Given the description of an element on the screen output the (x, y) to click on. 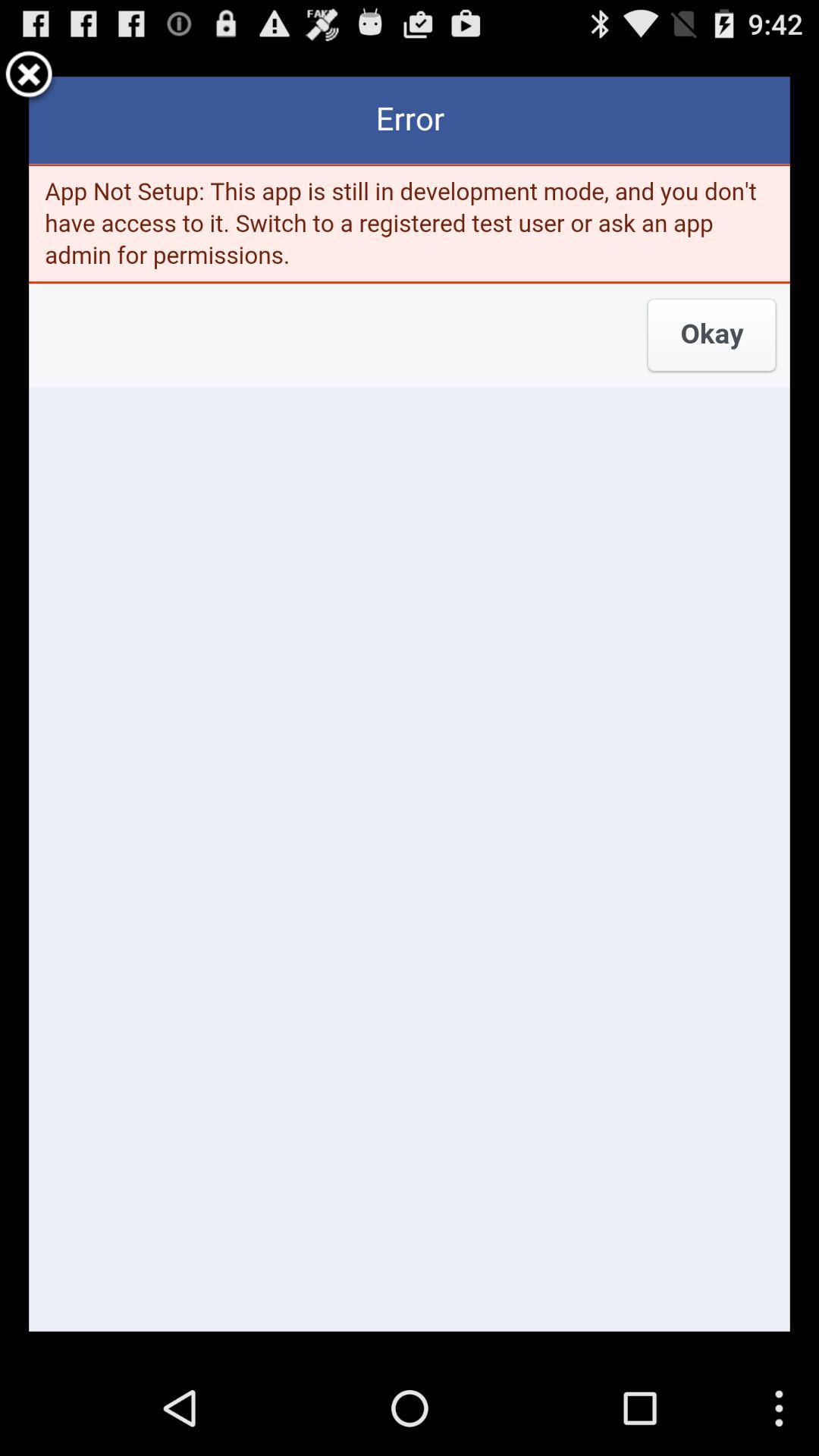
open a page (409, 703)
